Given the description of an element on the screen output the (x, y) to click on. 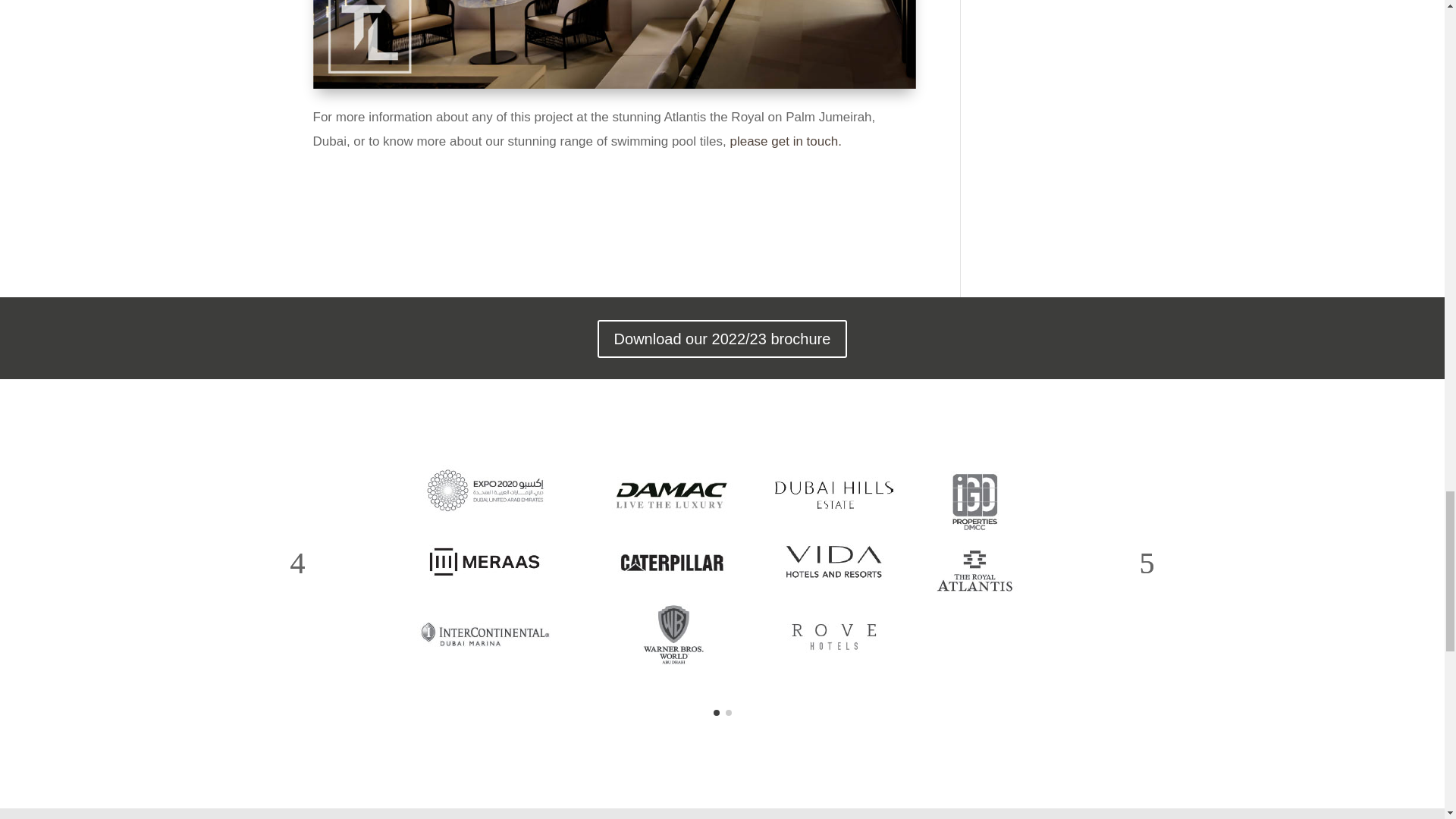
Atlantis the Royal (614, 44)
Atlantis the Royal (614, 88)
please get in touch. (785, 141)
